Given the description of an element on the screen output the (x, y) to click on. 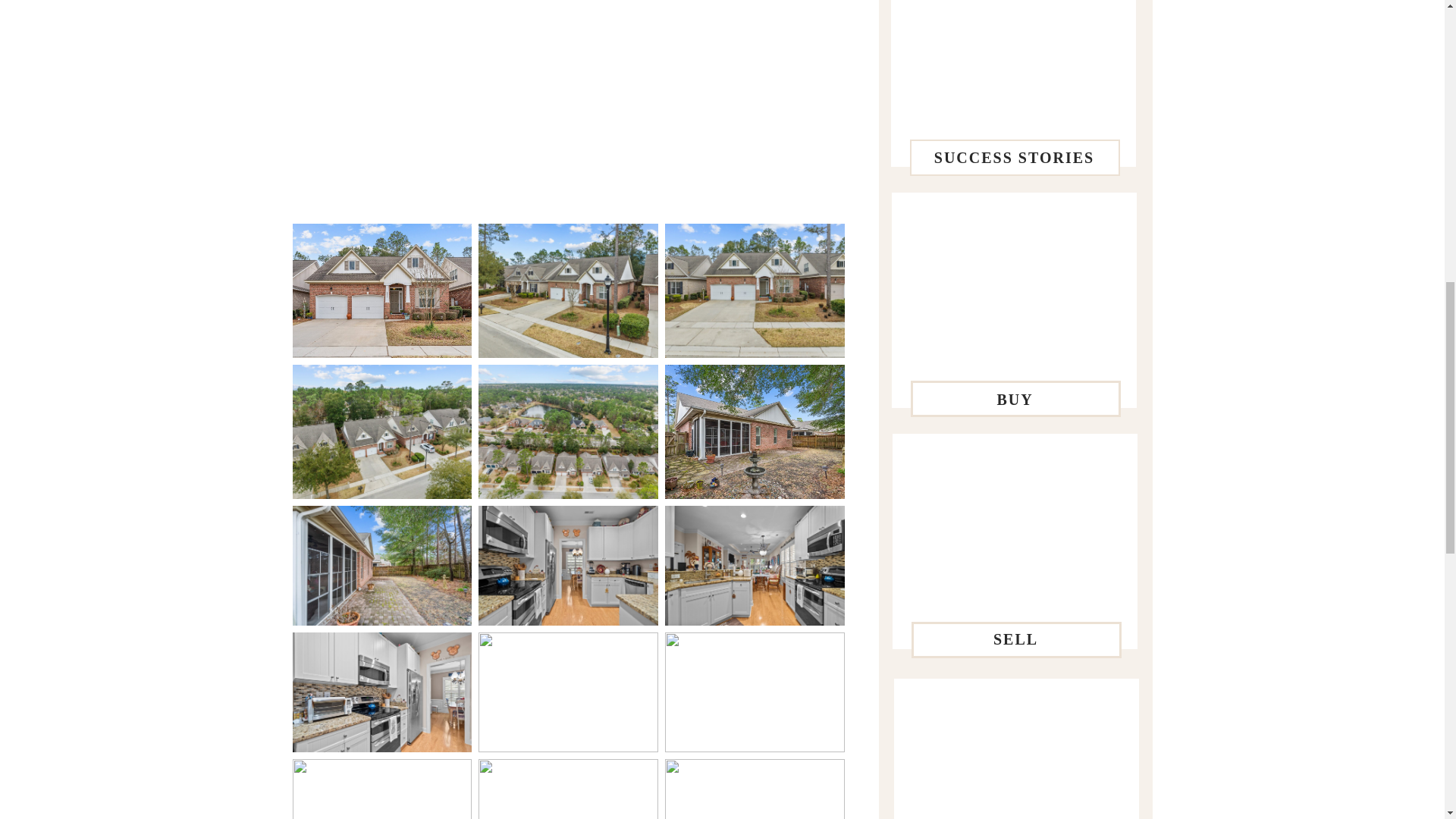
SELL (1015, 641)
SUCCESS STORIES (1013, 158)
BUY (1015, 399)
